Given the description of an element on the screen output the (x, y) to click on. 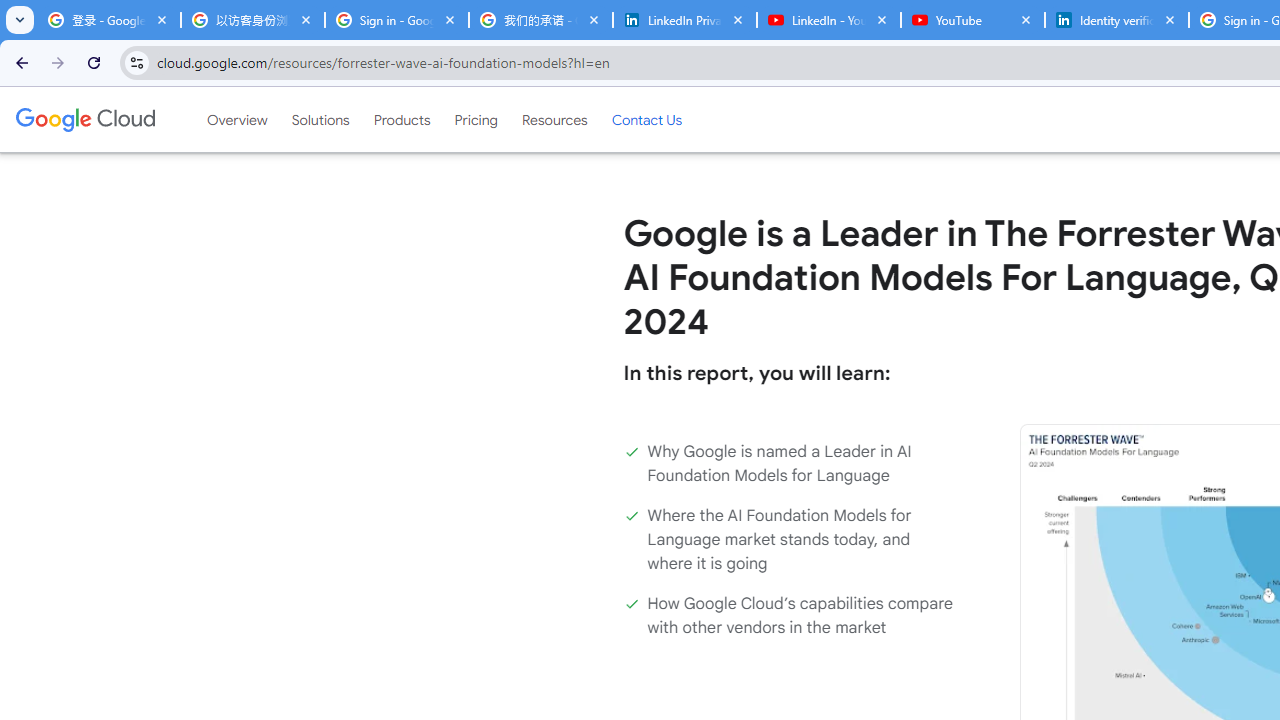
Pricing (476, 119)
LinkedIn Privacy Policy (684, 20)
Resources (553, 119)
